Given the description of an element on the screen output the (x, y) to click on. 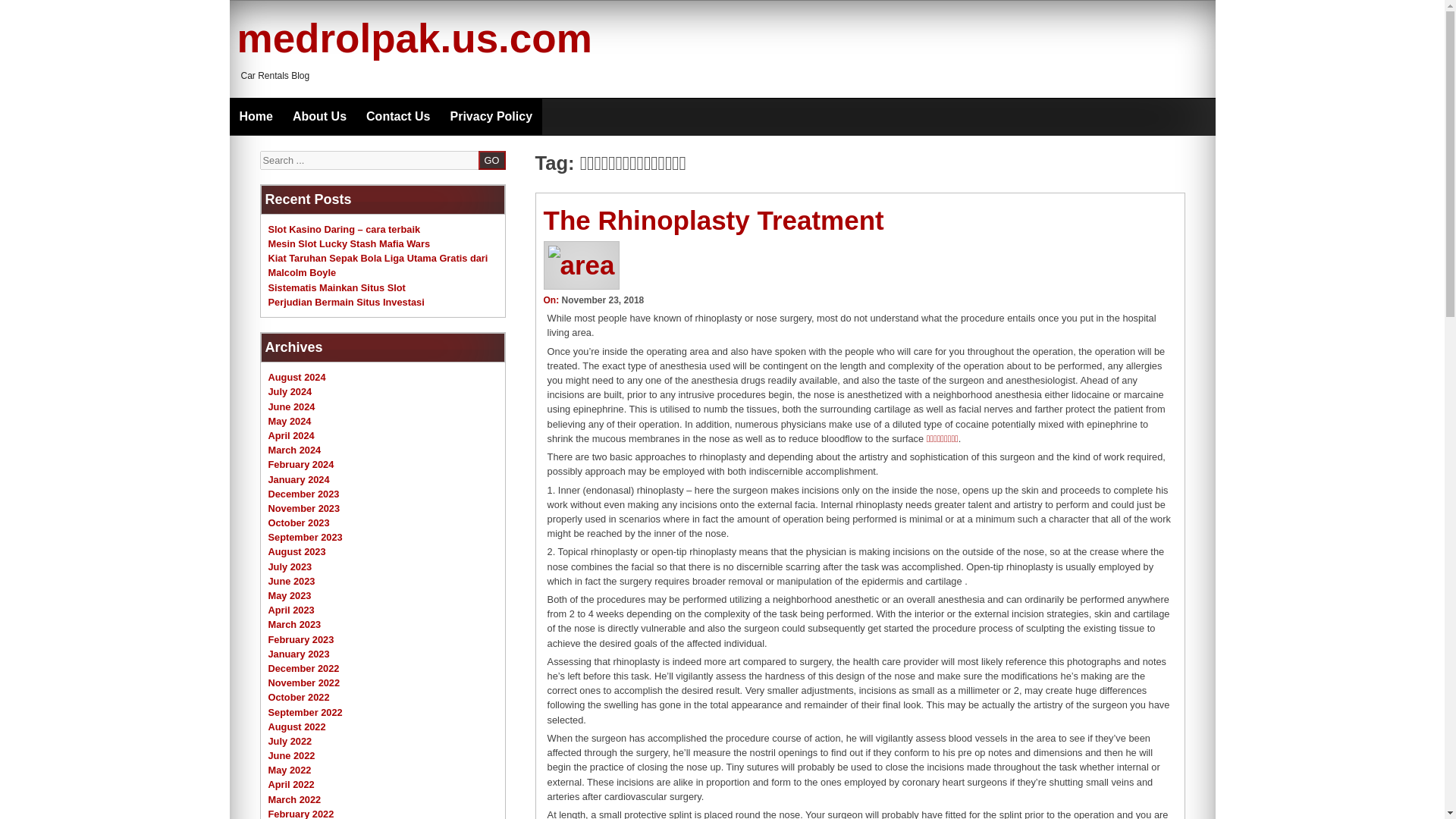
Kiat Taruhan Sepak Bola Liga Utama Gratis dari Malcolm Boyle (377, 265)
Contact Us (397, 116)
July 2024 (290, 391)
February 2024 (300, 464)
Home (255, 116)
GO (492, 158)
Sistematis Mainkan Situs Slot (336, 287)
March 2024 (294, 449)
August 2024 (296, 377)
GO (492, 158)
